Given the description of an element on the screen output the (x, y) to click on. 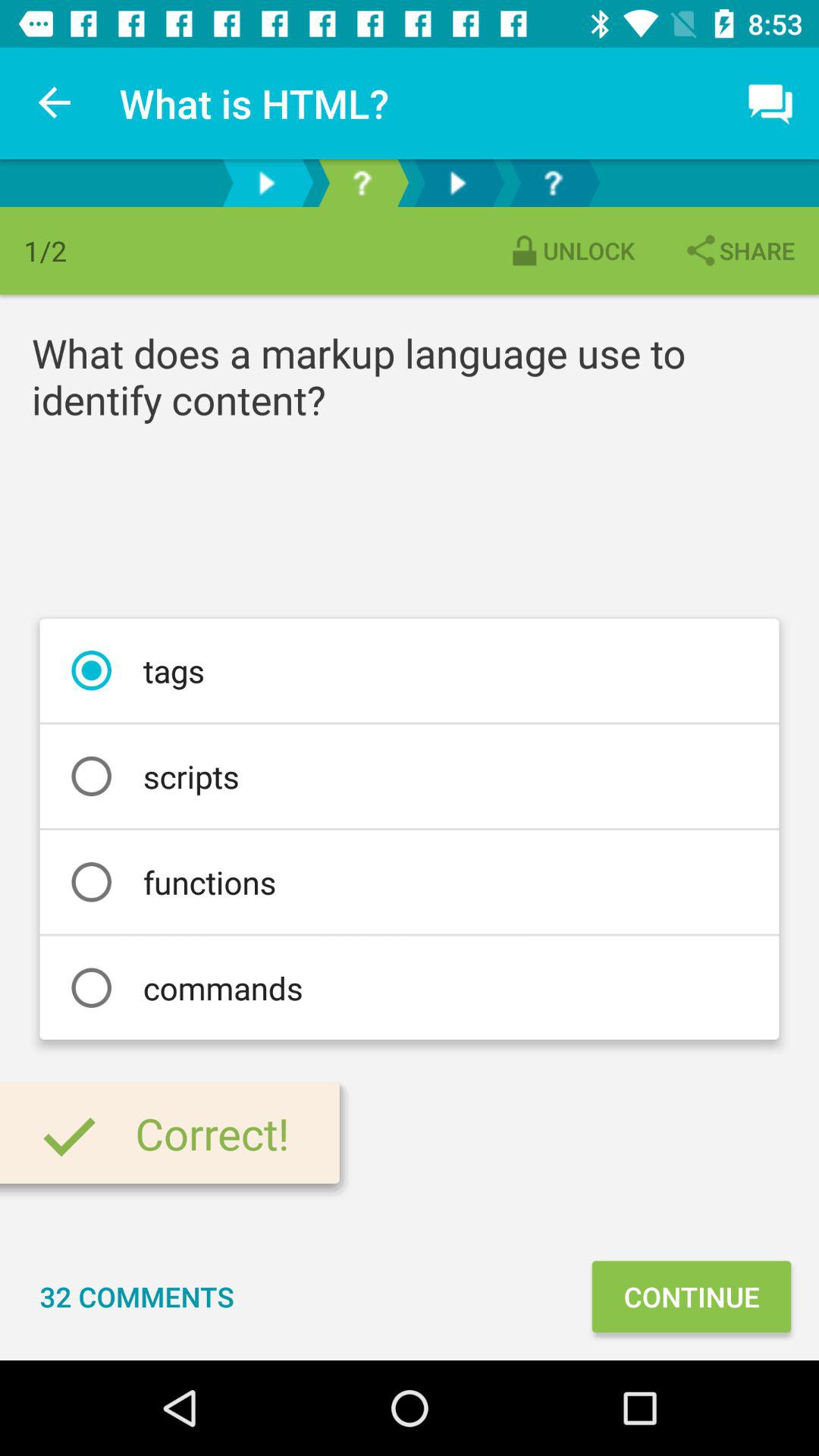
select the item next to the unlock (738, 250)
